Given the description of an element on the screen output the (x, y) to click on. 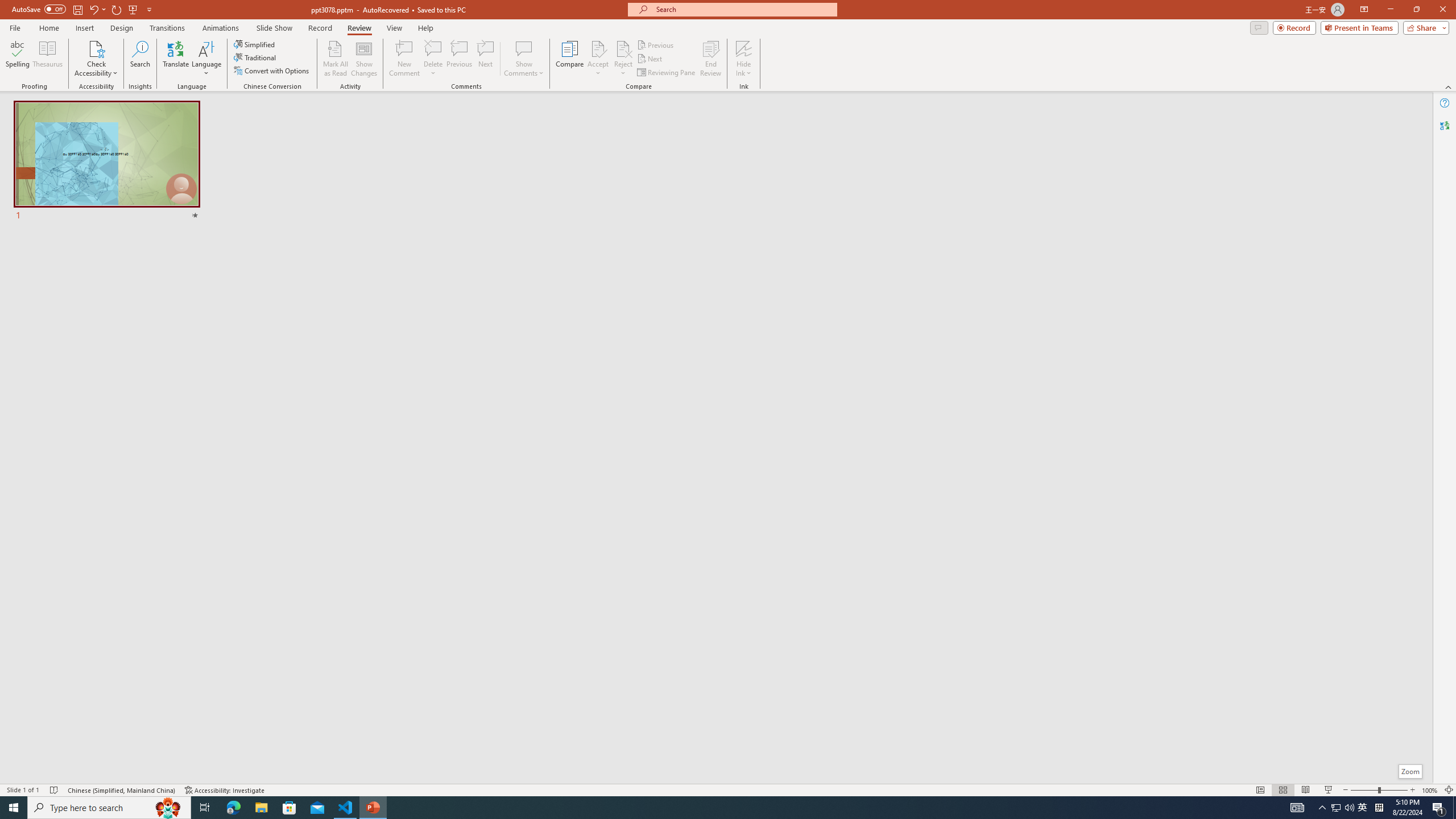
Zoom 100% (1430, 790)
Reviewing Pane (666, 72)
Translate (175, 58)
Thesaurus... (47, 58)
Next (649, 58)
Accept (598, 58)
